Given the description of an element on the screen output the (x, y) to click on. 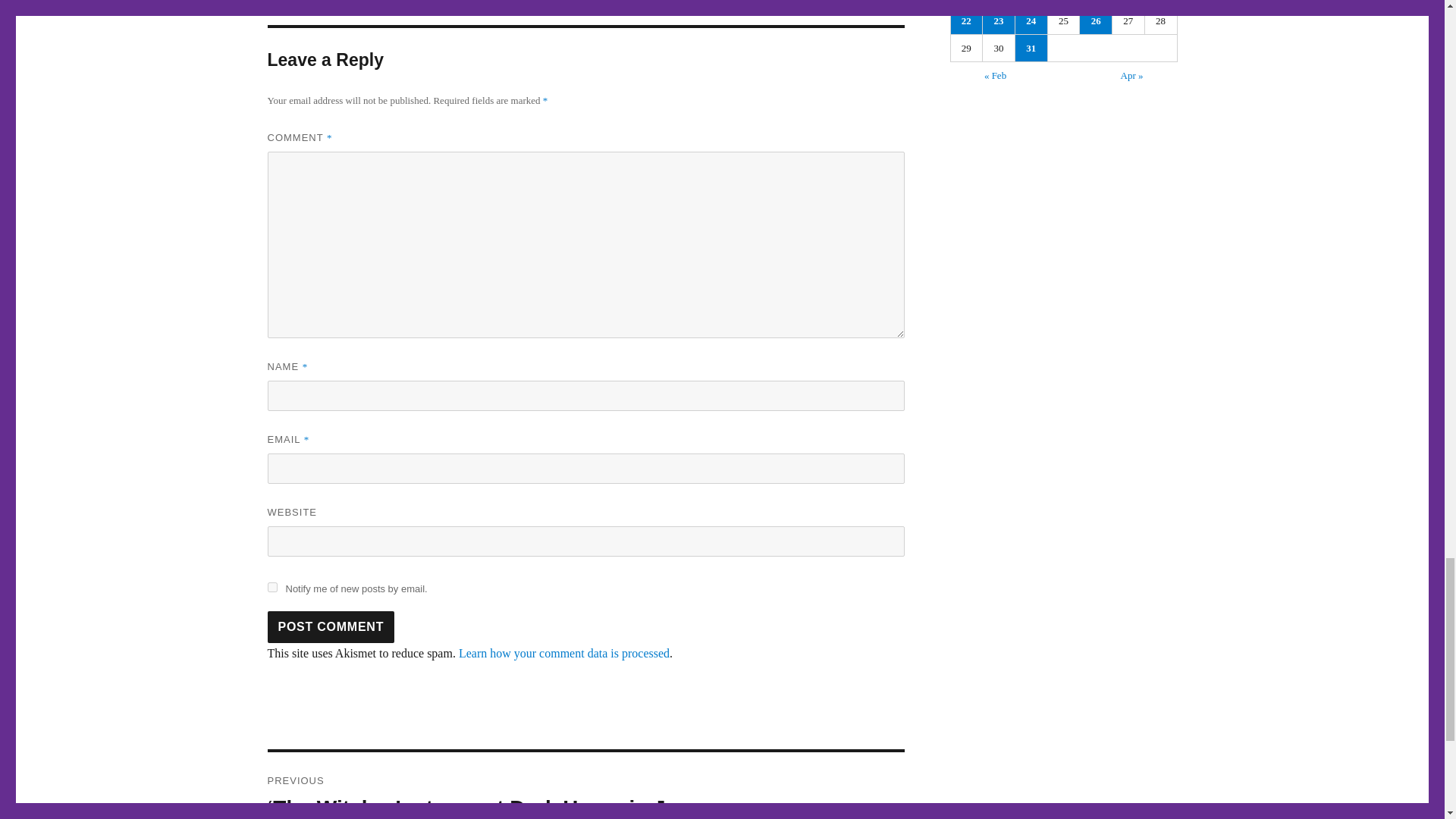
subscribe (271, 587)
Learn how your comment data is processed (563, 653)
Post Comment (330, 626)
Post Comment (330, 626)
